Given the description of an element on the screen output the (x, y) to click on. 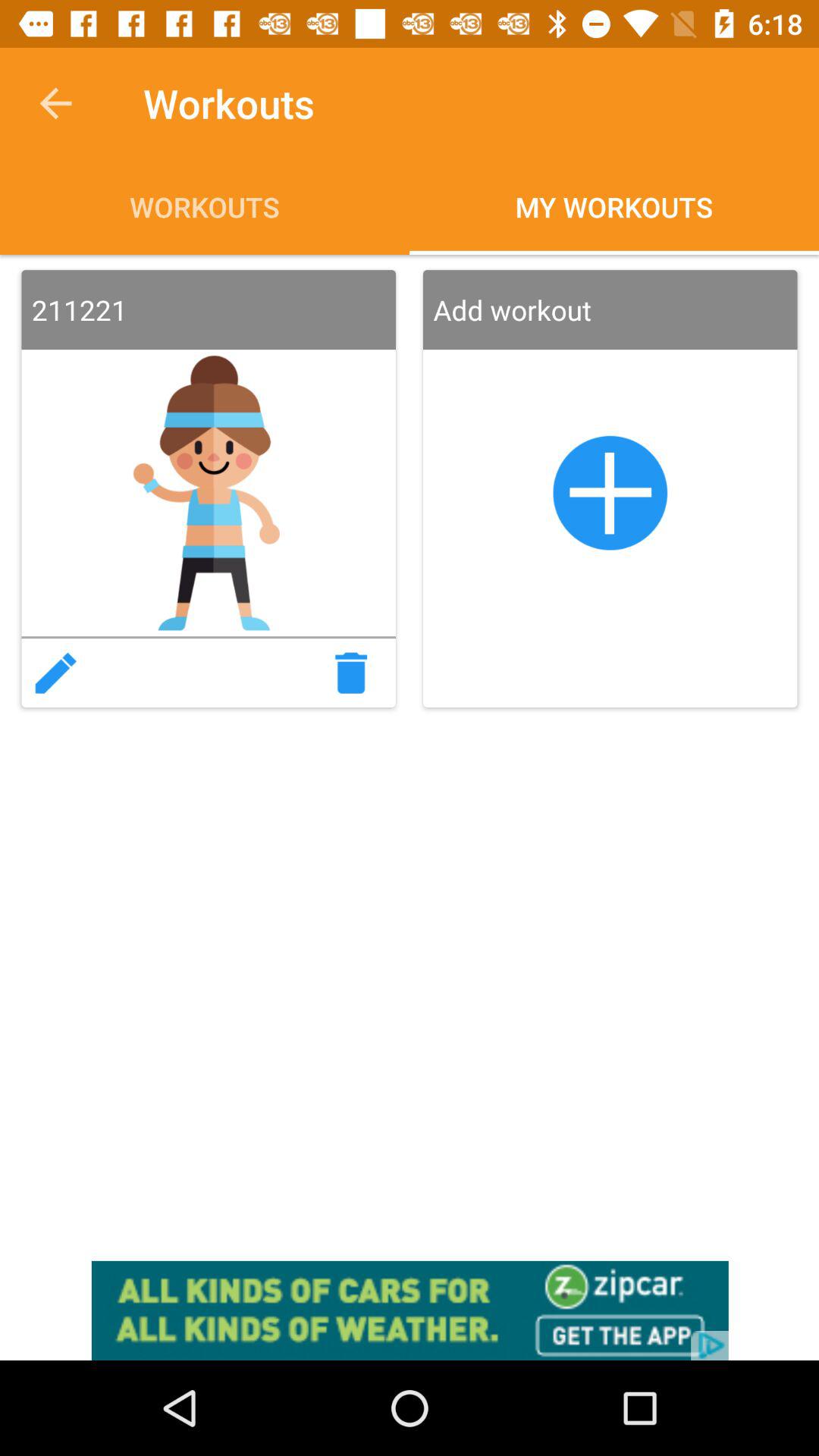
edit (55, 672)
